Given the description of an element on the screen output the (x, y) to click on. 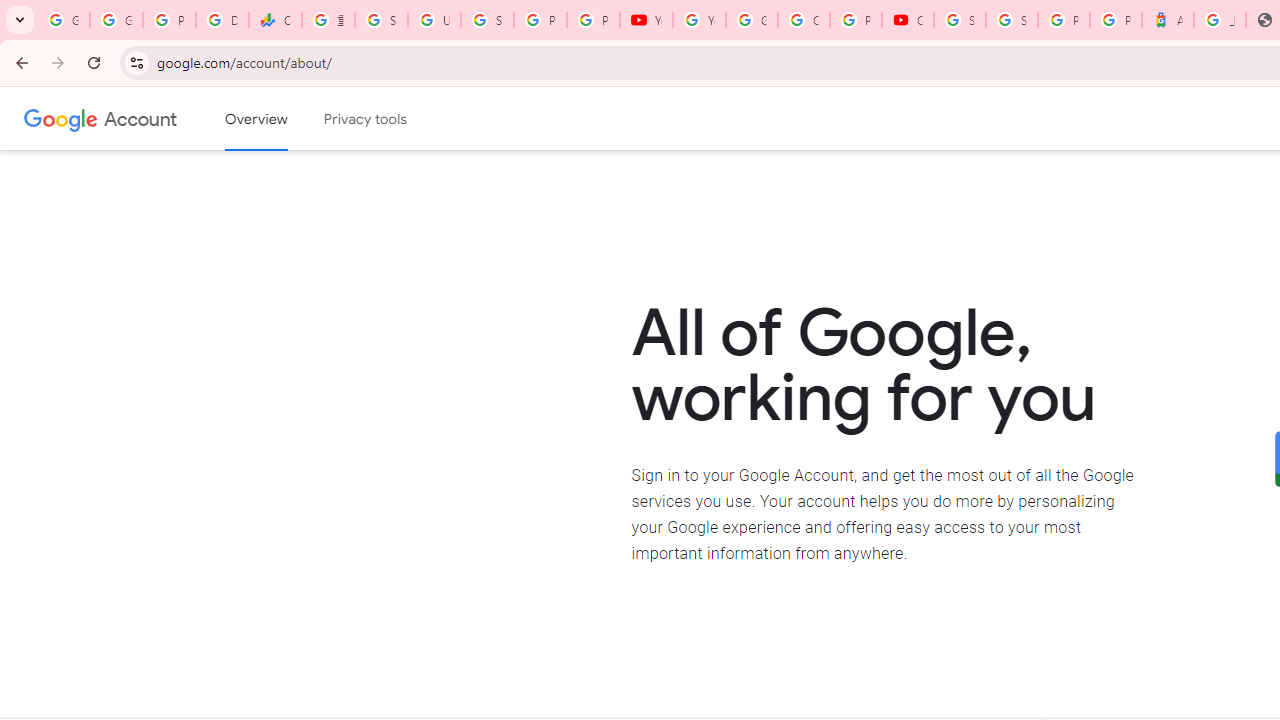
Content Creator Programs & Opportunities - YouTube Creators (907, 20)
Search tabs (20, 20)
Google Account (140, 118)
Sign in - Google Accounts (487, 20)
Skip to Content (285, 115)
Reload (93, 62)
YouTube (699, 20)
Google Account Help (751, 20)
